Given the description of an element on the screen output the (x, y) to click on. 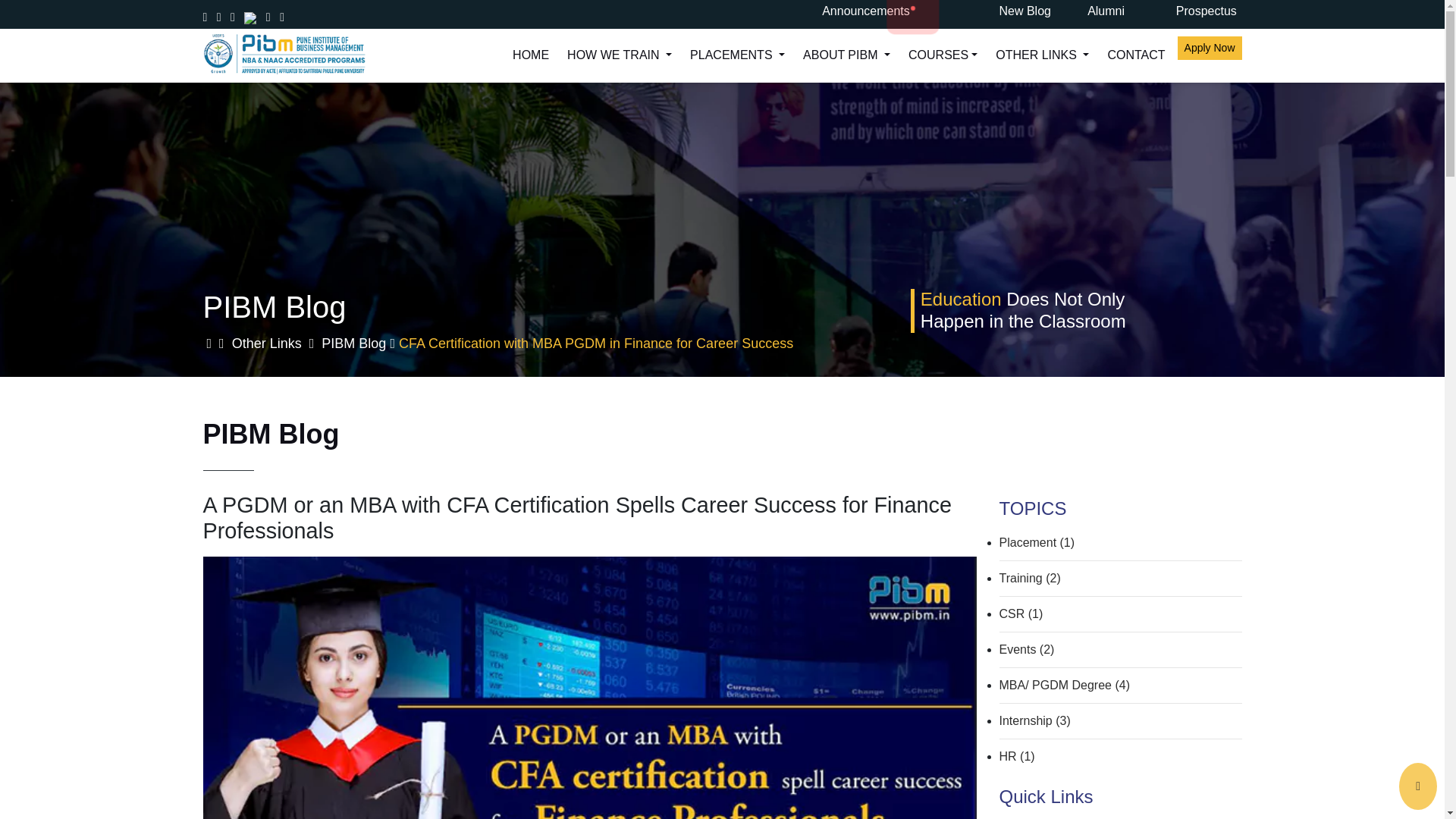
Alumni (1120, 11)
Announcements (866, 10)
New Blog (1031, 11)
twitter (250, 16)
HOME (530, 59)
Prospectus (1208, 11)
HOW WE TRAIN (619, 59)
